Given the description of an element on the screen output the (x, y) to click on. 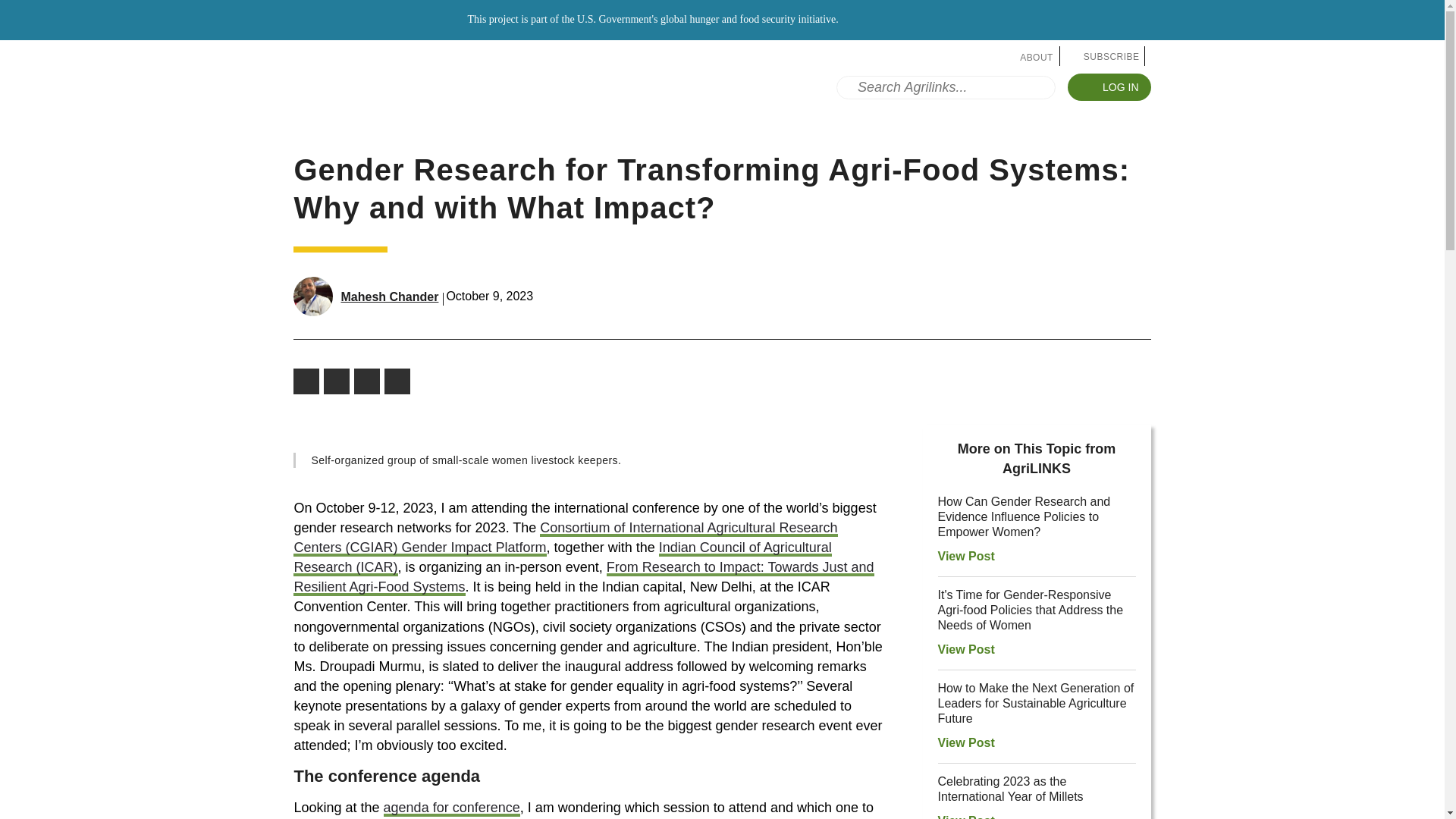
View Post (980, 555)
SUBSCRIBE (1104, 55)
twitter (338, 380)
linkedin (399, 380)
Share on linkedin (399, 380)
View Post (980, 649)
Share on facebook (308, 380)
